Given the description of an element on the screen output the (x, y) to click on. 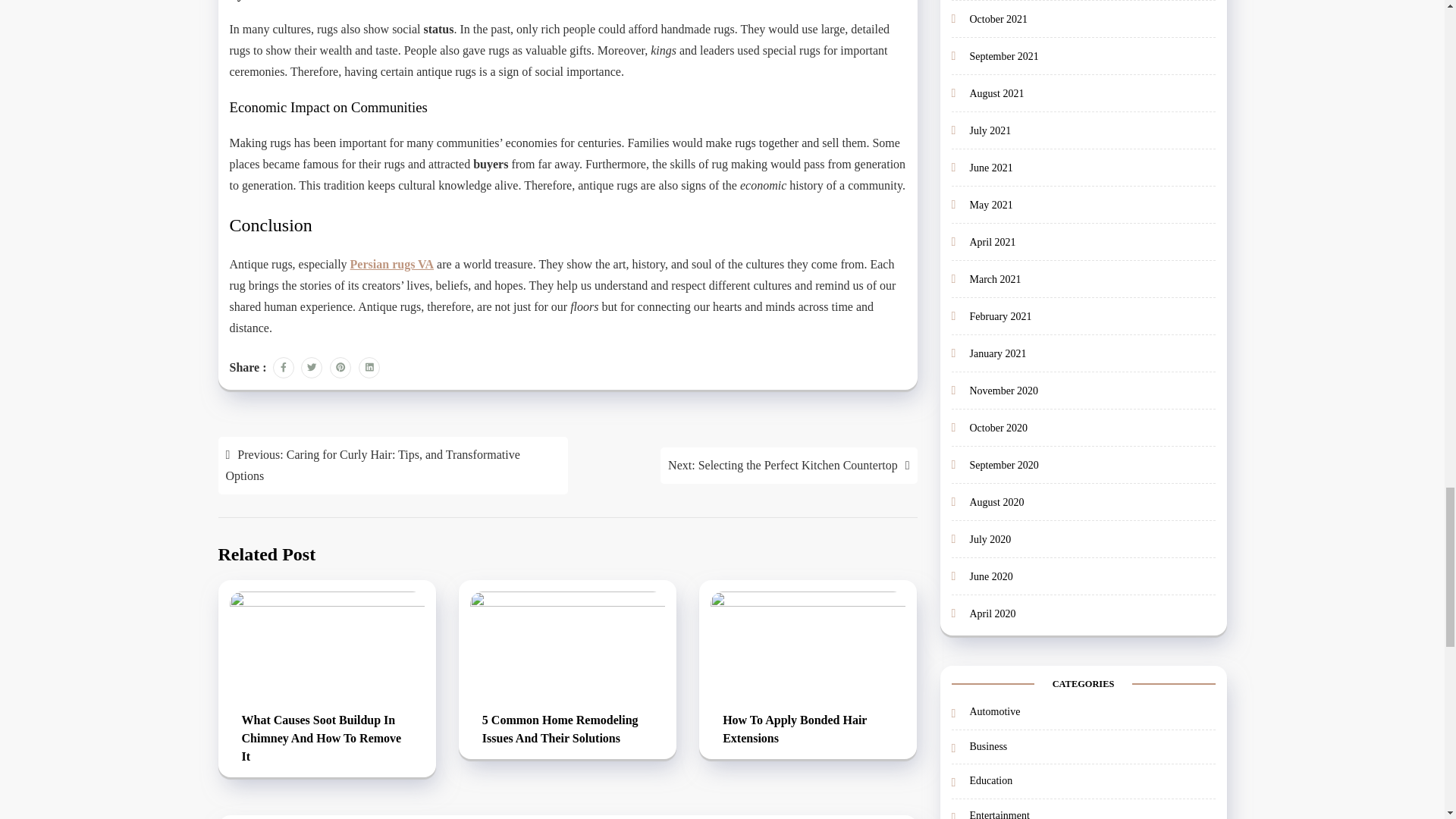
How To Apply Bonded Hair Extensions (807, 730)
Next: Selecting the Perfect Kitchen Countertop (789, 465)
5 Common Home Remodeling Issues And Their Solutions (566, 730)
Persian rugs VA (391, 264)
What Causes Soot Buildup In Chimney And How To Remove It (326, 739)
